Given the description of an element on the screen output the (x, y) to click on. 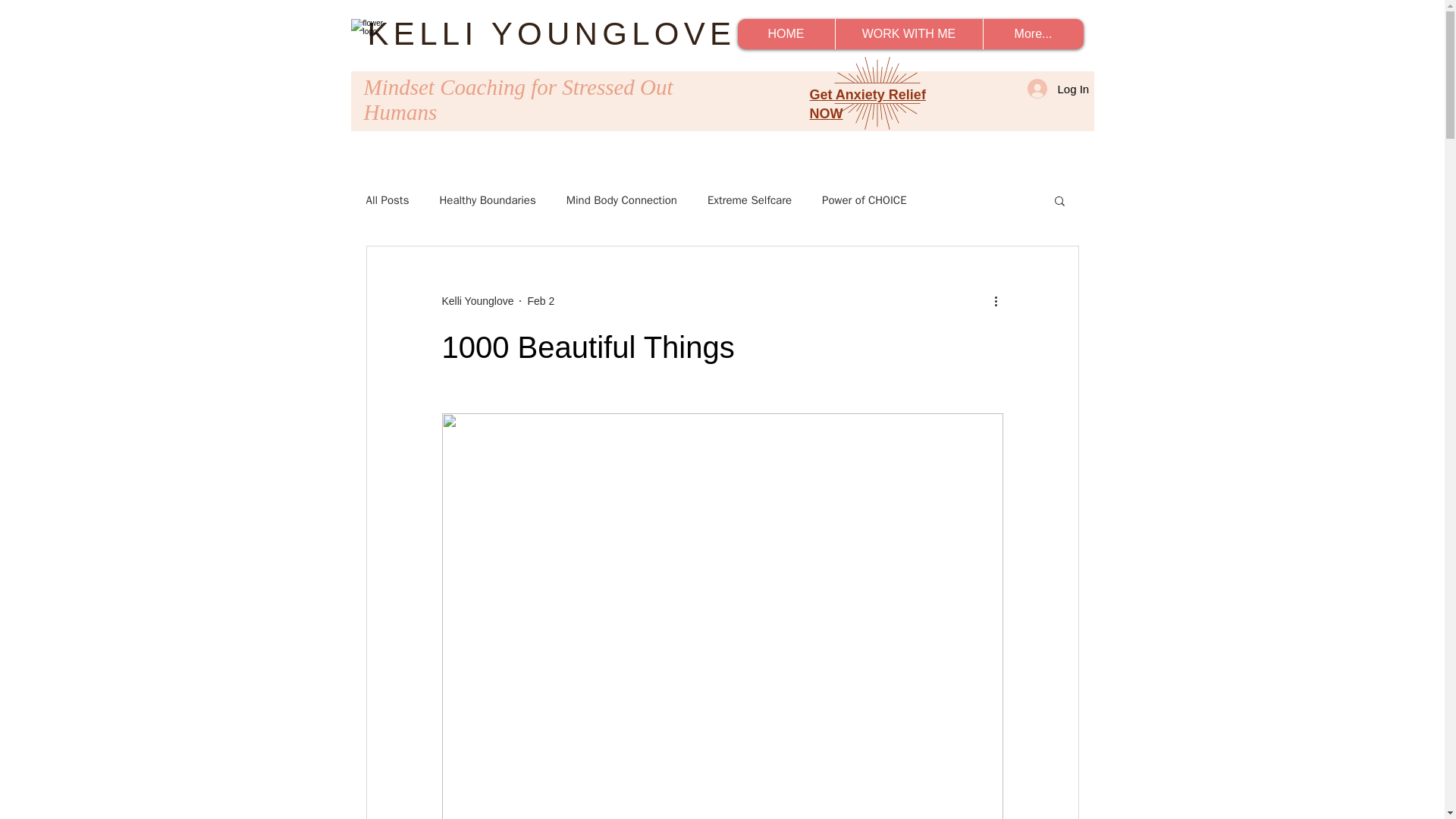
Kelli Younglove (477, 300)
All Posts (387, 199)
Feb 2 (540, 300)
WORK WITH ME (907, 33)
Healthy Boundaries (487, 199)
Extreme Selfcare (749, 199)
Power of CHOICE (863, 199)
Get Anxiety Relief NOW (867, 103)
Kelli Younglove (477, 300)
Log In (1051, 88)
